Given the description of an element on the screen output the (x, y) to click on. 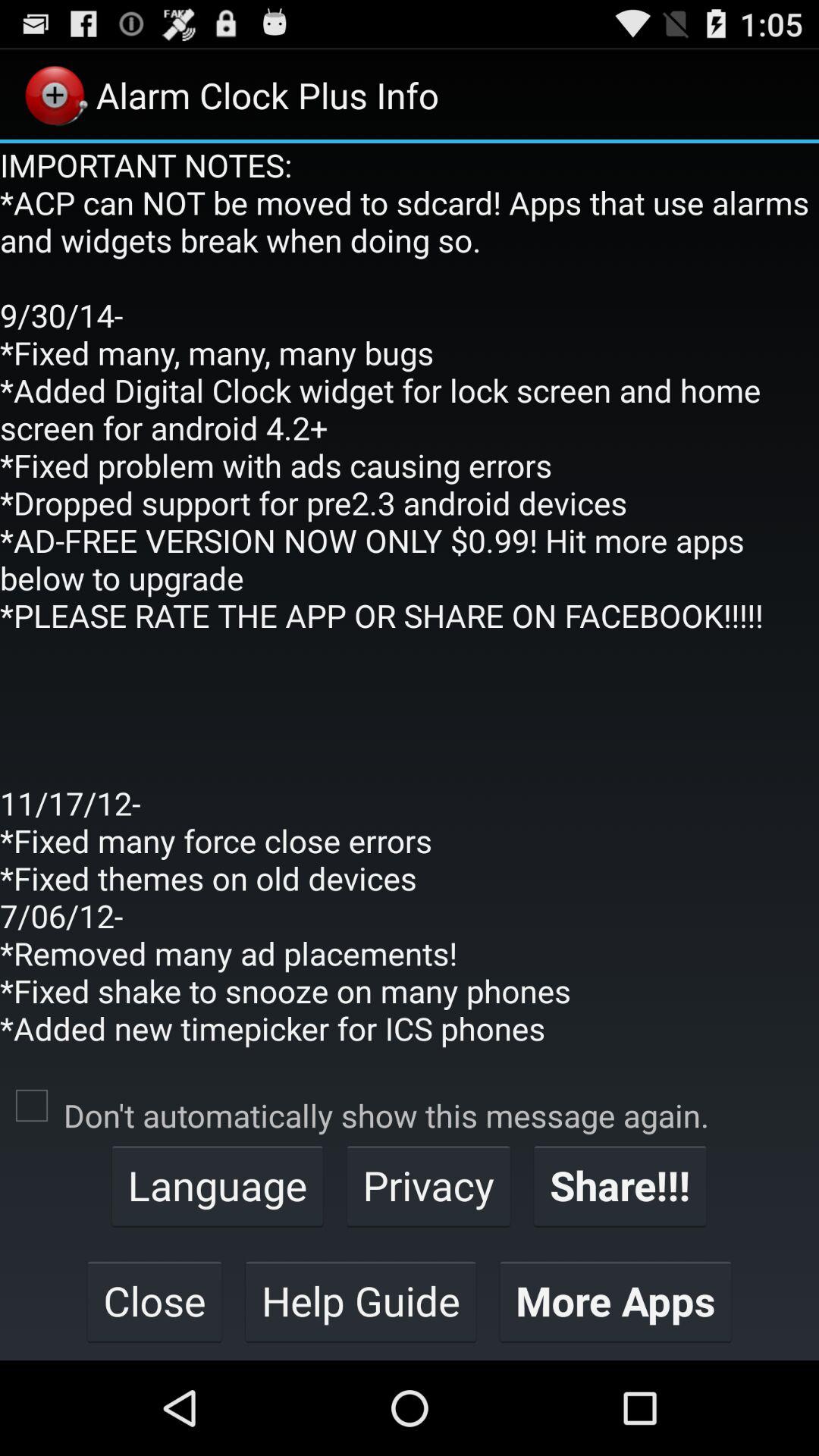
tap more apps (615, 1300)
